Given the description of an element on the screen output the (x, y) to click on. 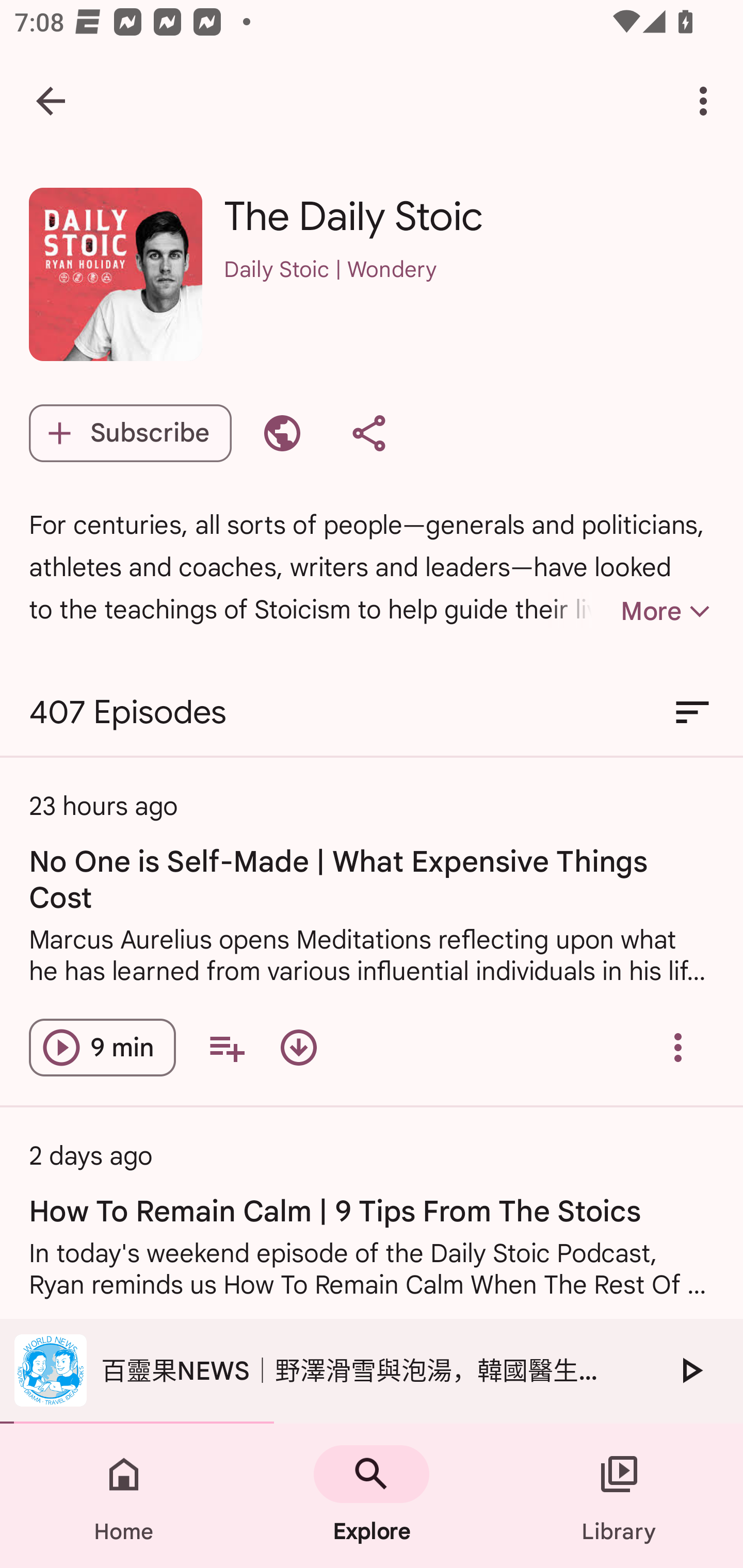
Navigate up (50, 101)
More options (706, 101)
Daily Stoic | Wondery (468, 295)
Subscribe (129, 433)
Visit website (282, 433)
Share (368, 433)
More (631, 610)
Sort (692, 712)
Add to your queue (226, 1047)
Download episode (298, 1047)
Overflow menu (677, 1047)
Play (690, 1370)
Home (123, 1495)
Library (619, 1495)
